Given the description of an element on the screen output the (x, y) to click on. 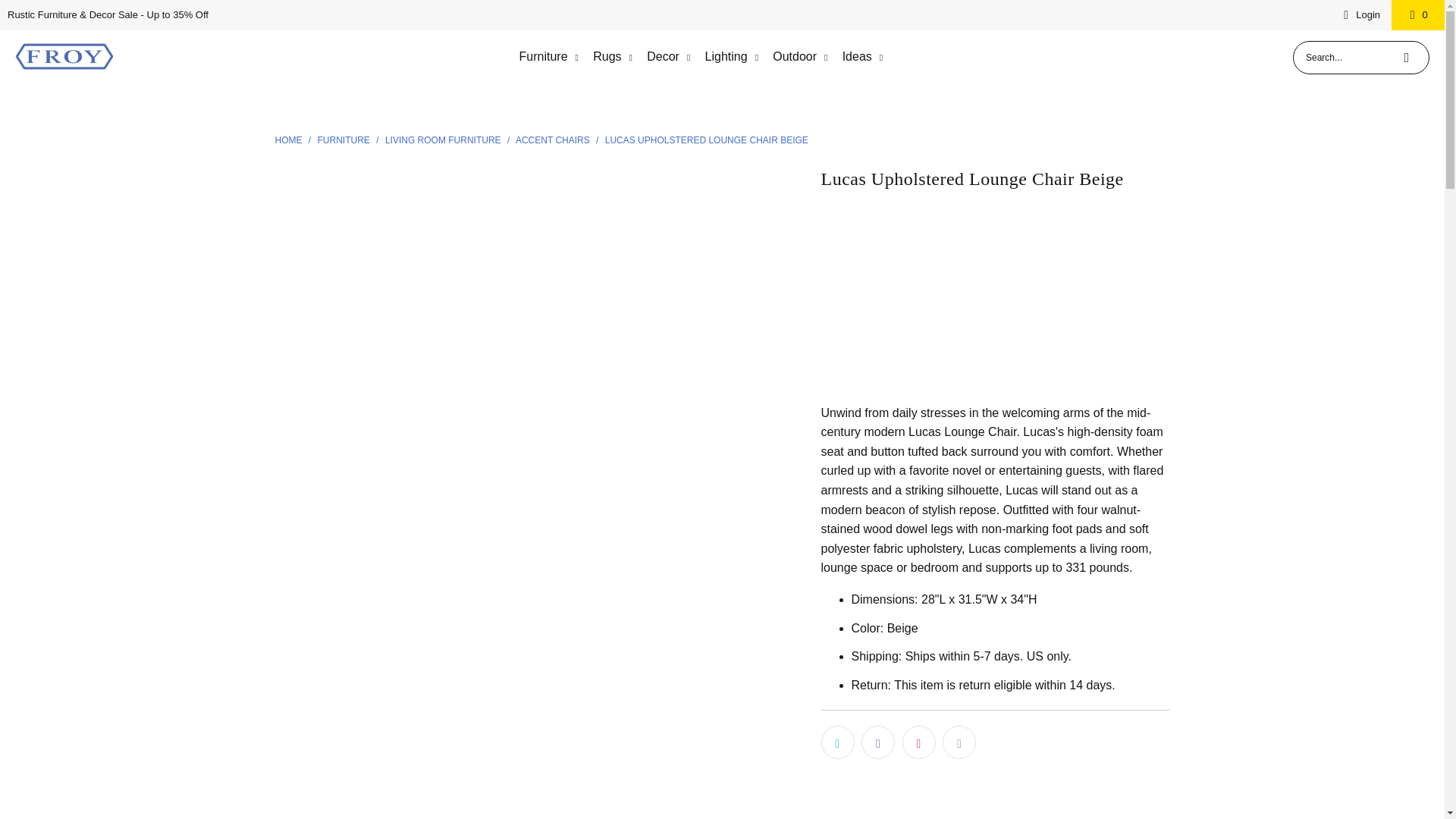
Email this to a friend (958, 742)
Share this on Facebook (878, 742)
Froy.com (289, 140)
My Account  (1359, 14)
Living Room Furniture (444, 140)
Share this on Twitter (837, 742)
Froy.com (63, 57)
Furniture (344, 140)
Share this on Pinterest (919, 742)
Accent Chairs (553, 140)
